Given the description of an element on the screen output the (x, y) to click on. 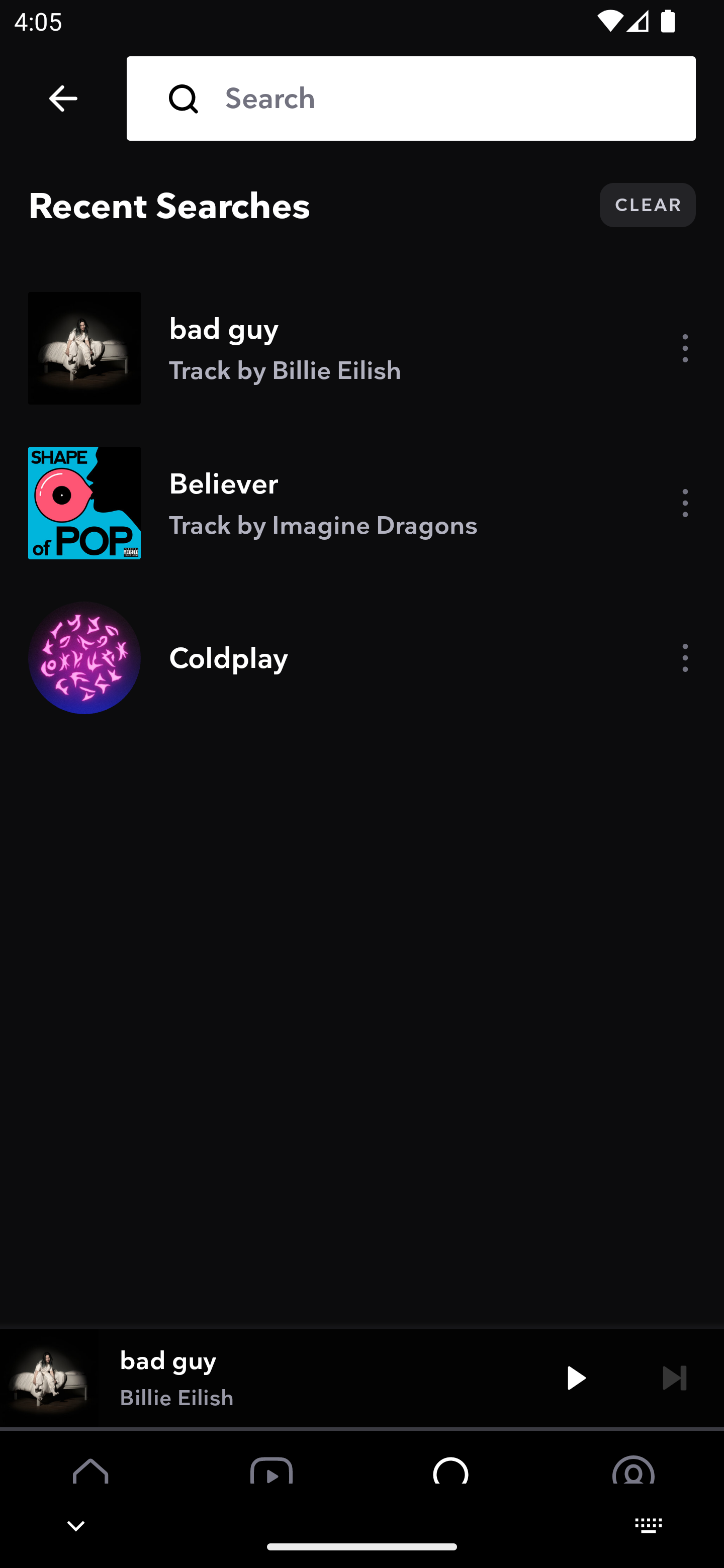
Search (446, 98)
CLEAR (647, 205)
bad guy Track by Billie Eilish (362, 347)
Believer Track by Imagine Dragons (362, 502)
Coldplay (362, 657)
bad guy Billie Eilish Play (362, 1377)
Play (576, 1377)
